Given the description of an element on the screen output the (x, y) to click on. 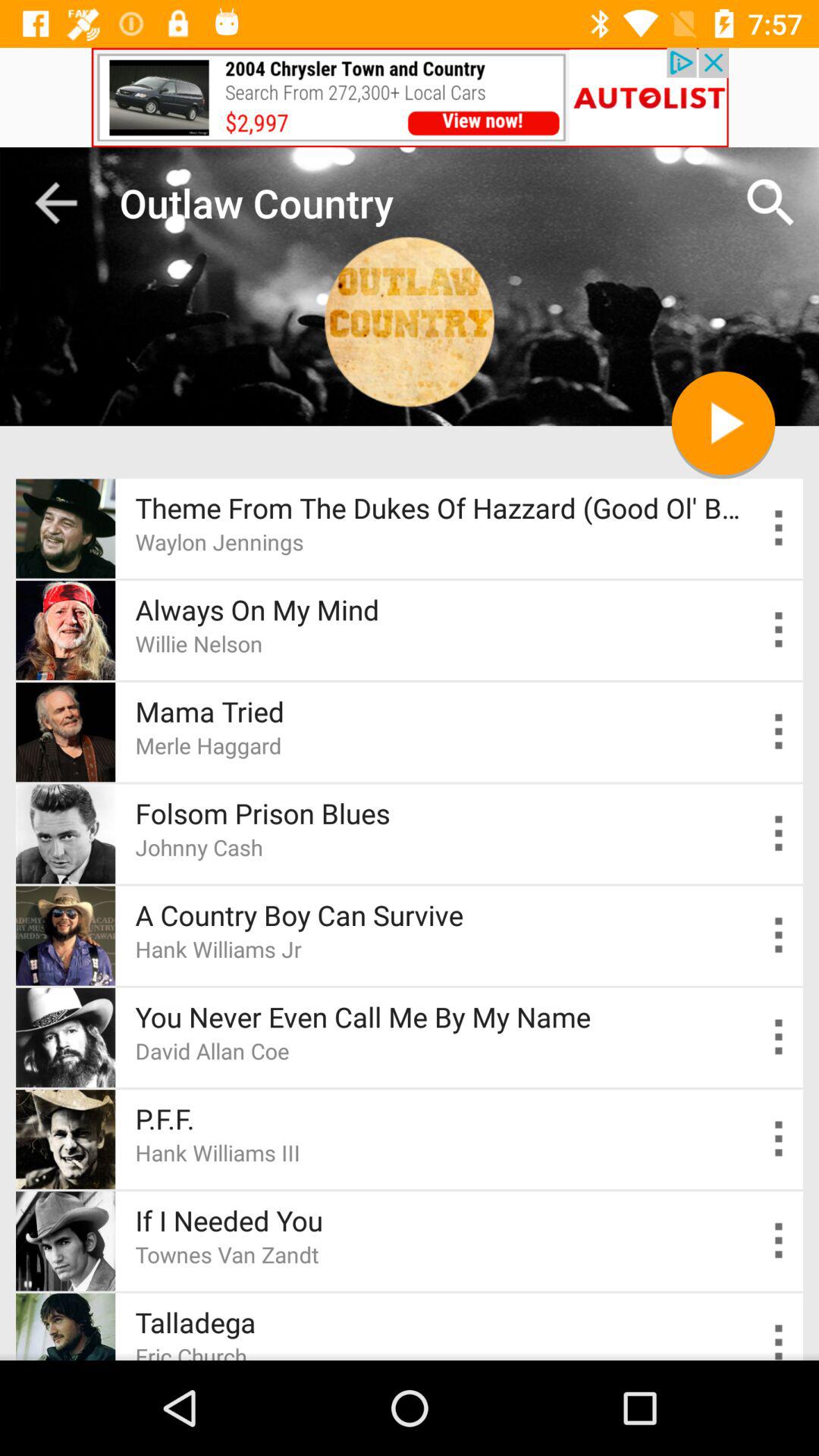
toggle autoplay option (779, 1240)
